Given the description of an element on the screen output the (x, y) to click on. 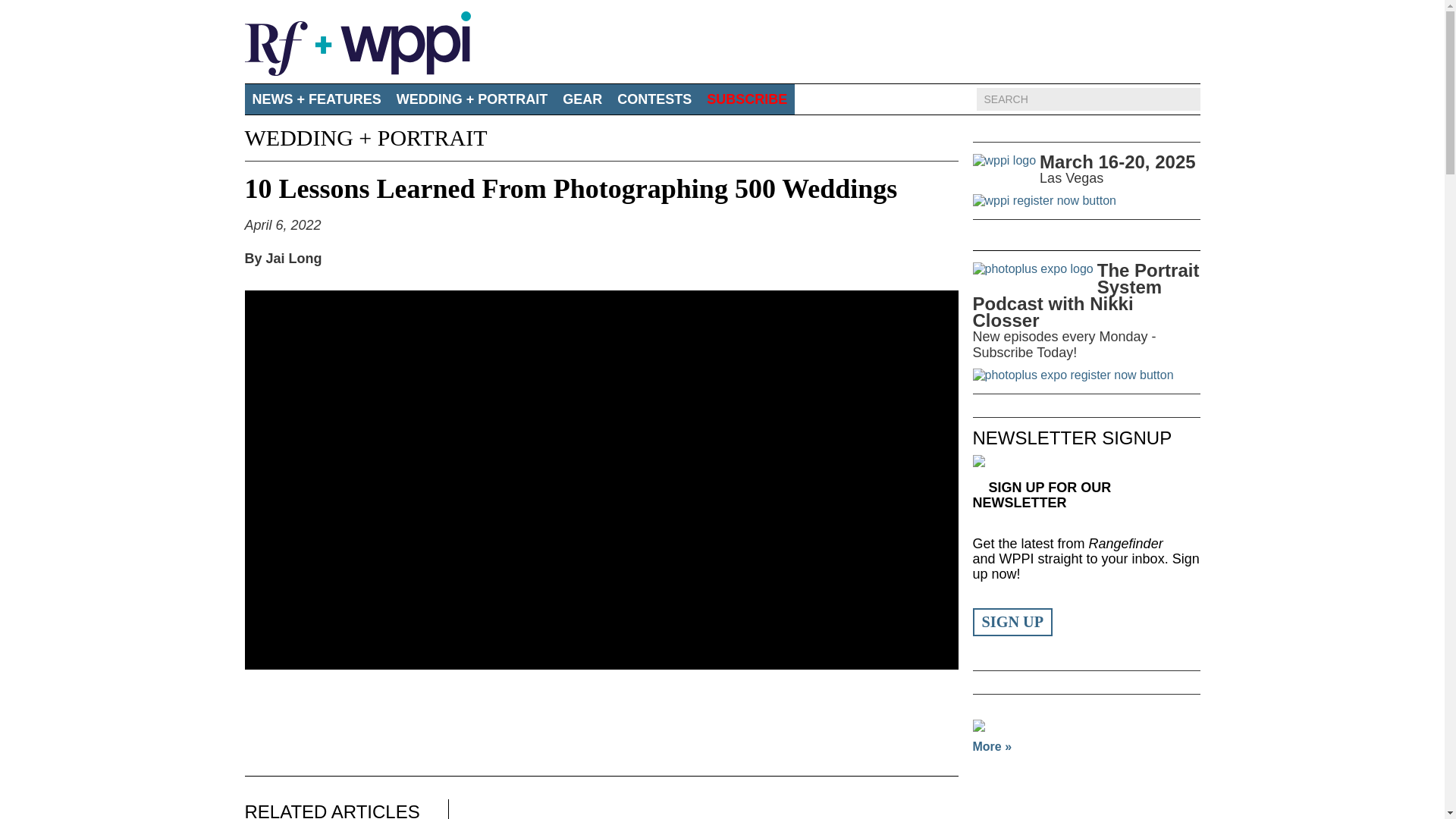
Search (1074, 98)
CONTESTS (654, 99)
SUBSCRIBE (746, 99)
GEAR (582, 99)
Search (1074, 98)
